Given the description of an element on the screen output the (x, y) to click on. 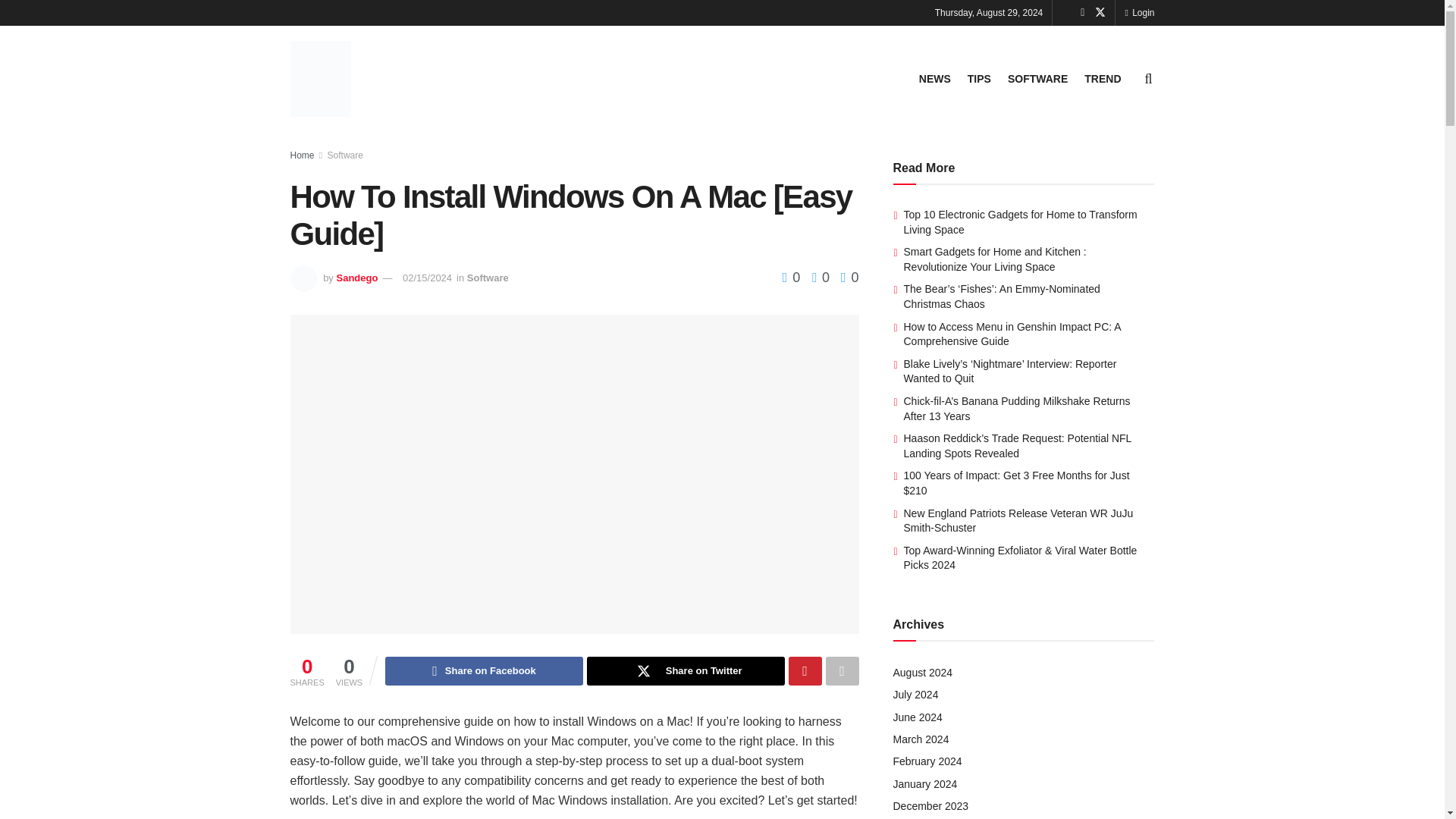
Home (301, 154)
TREND (1102, 78)
Software (487, 277)
0 (850, 277)
Share on Facebook (484, 670)
TIPS (979, 78)
0 (816, 277)
SOFTWARE (1037, 78)
0 (794, 277)
NEWS (934, 78)
